Given the description of an element on the screen output the (x, y) to click on. 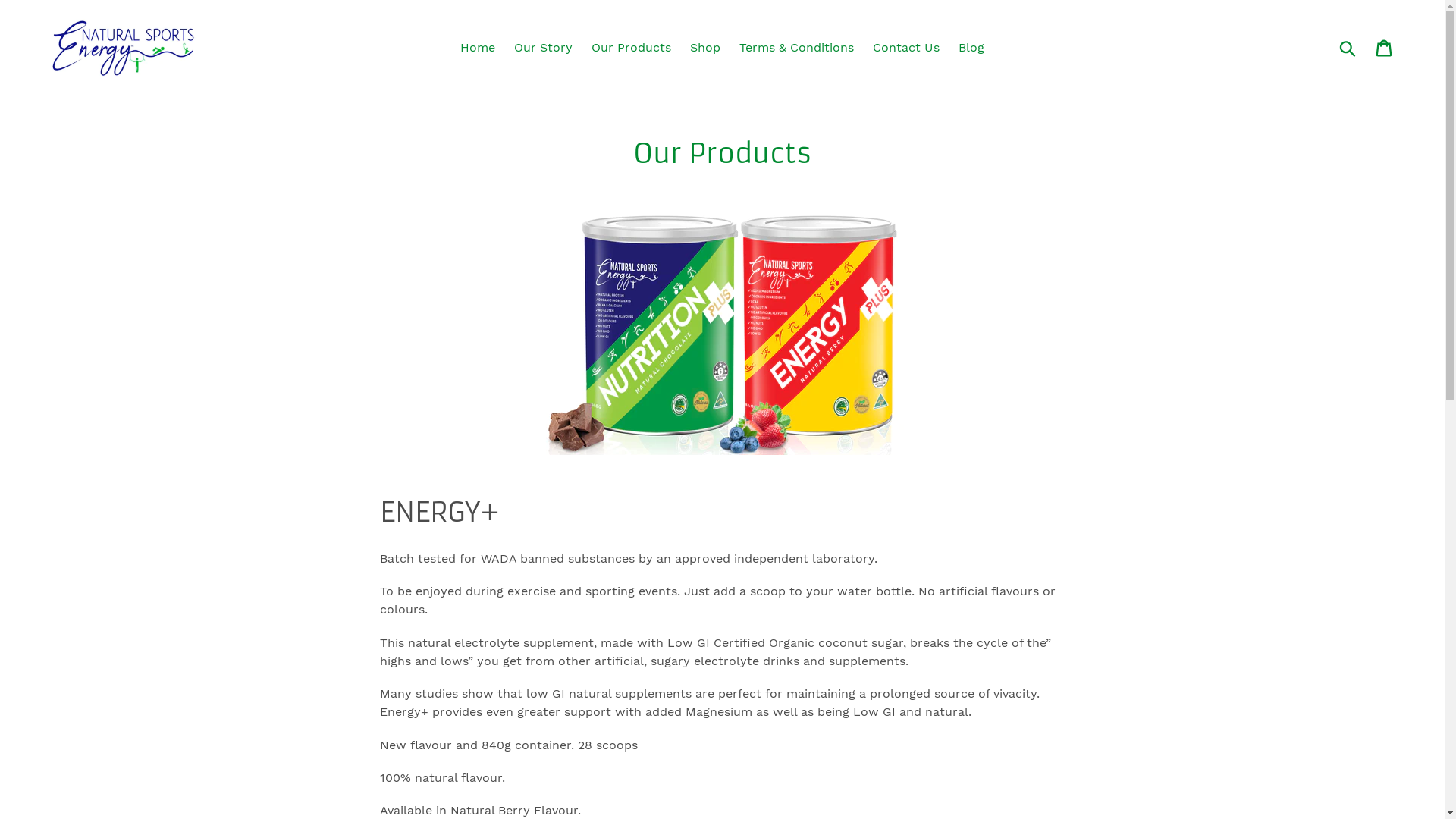
Submit Element type: text (1348, 47)
Our Story Element type: text (543, 47)
Blog Element type: text (970, 47)
Home Element type: text (477, 47)
Contact Us Element type: text (906, 47)
Our Products Element type: text (630, 47)
Shop Element type: text (705, 47)
Terms & Conditions Element type: text (796, 47)
Cart Element type: text (1384, 48)
